Given the description of an element on the screen output the (x, y) to click on. 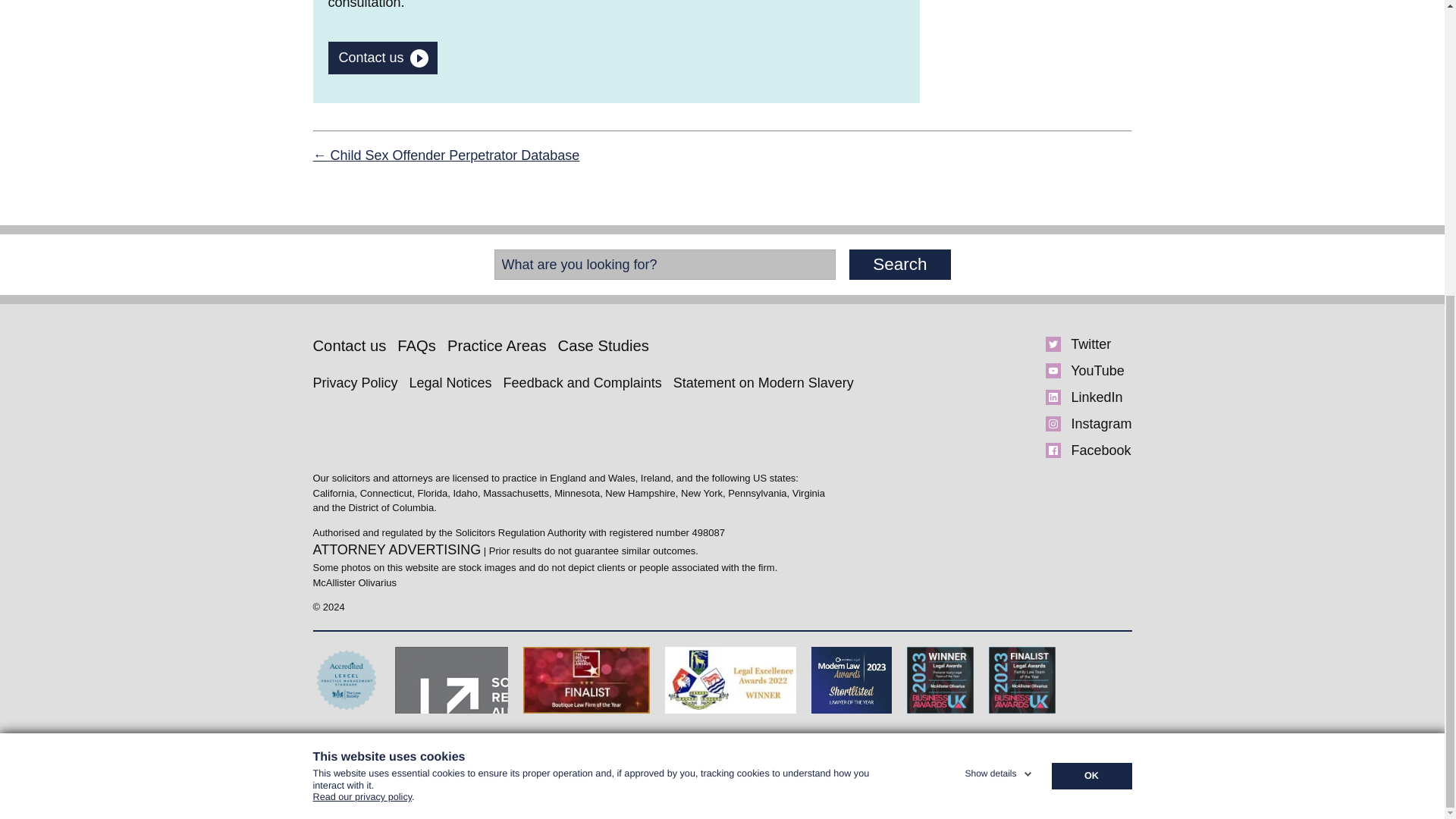
OK (1091, 321)
Search (899, 264)
Read our privacy policy (362, 348)
Show details (998, 316)
